Given the description of an element on the screen output the (x, y) to click on. 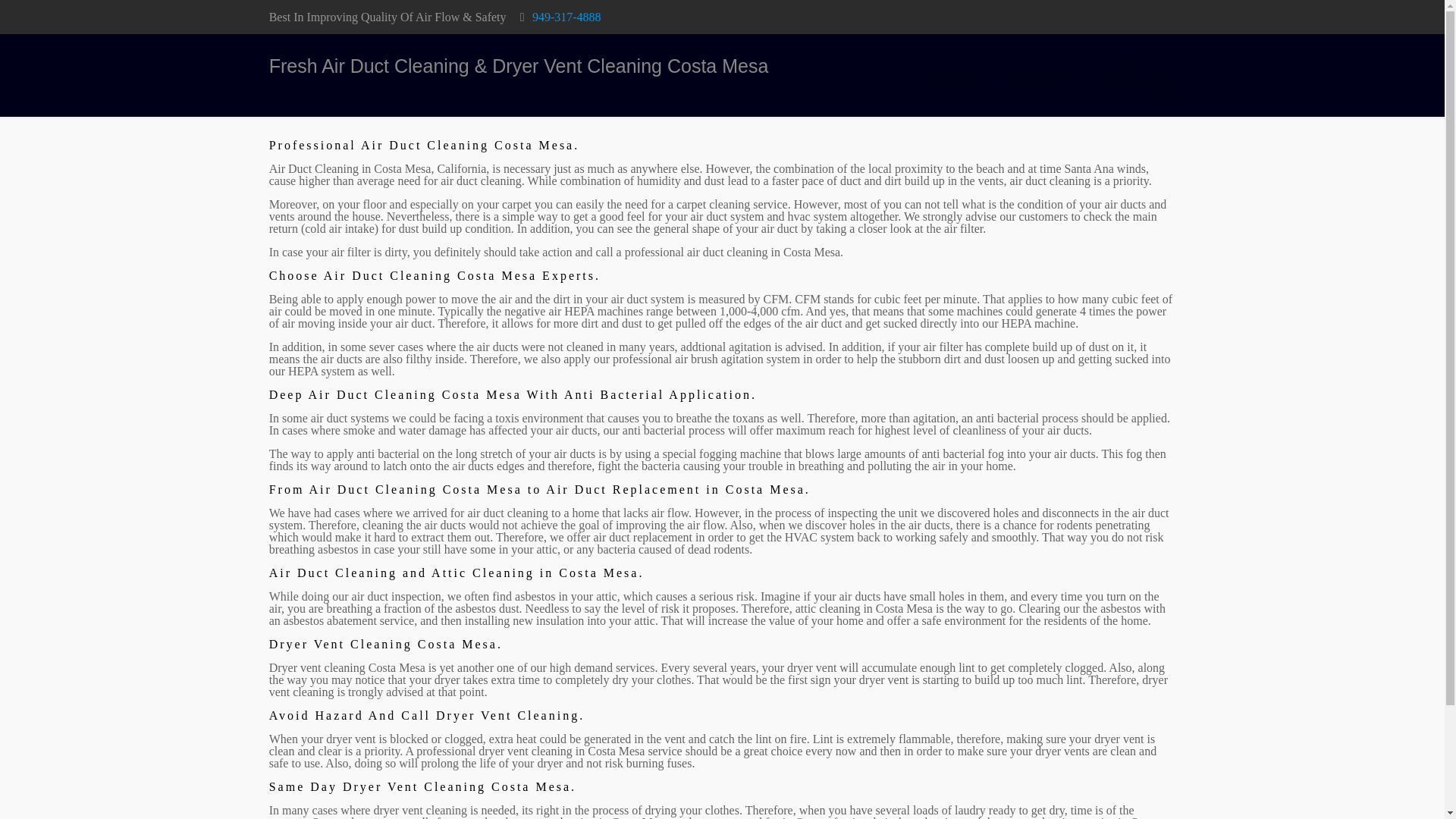
Home (1125, 62)
949-317-4888 (566, 16)
